Given the description of an element on the screen output the (x, y) to click on. 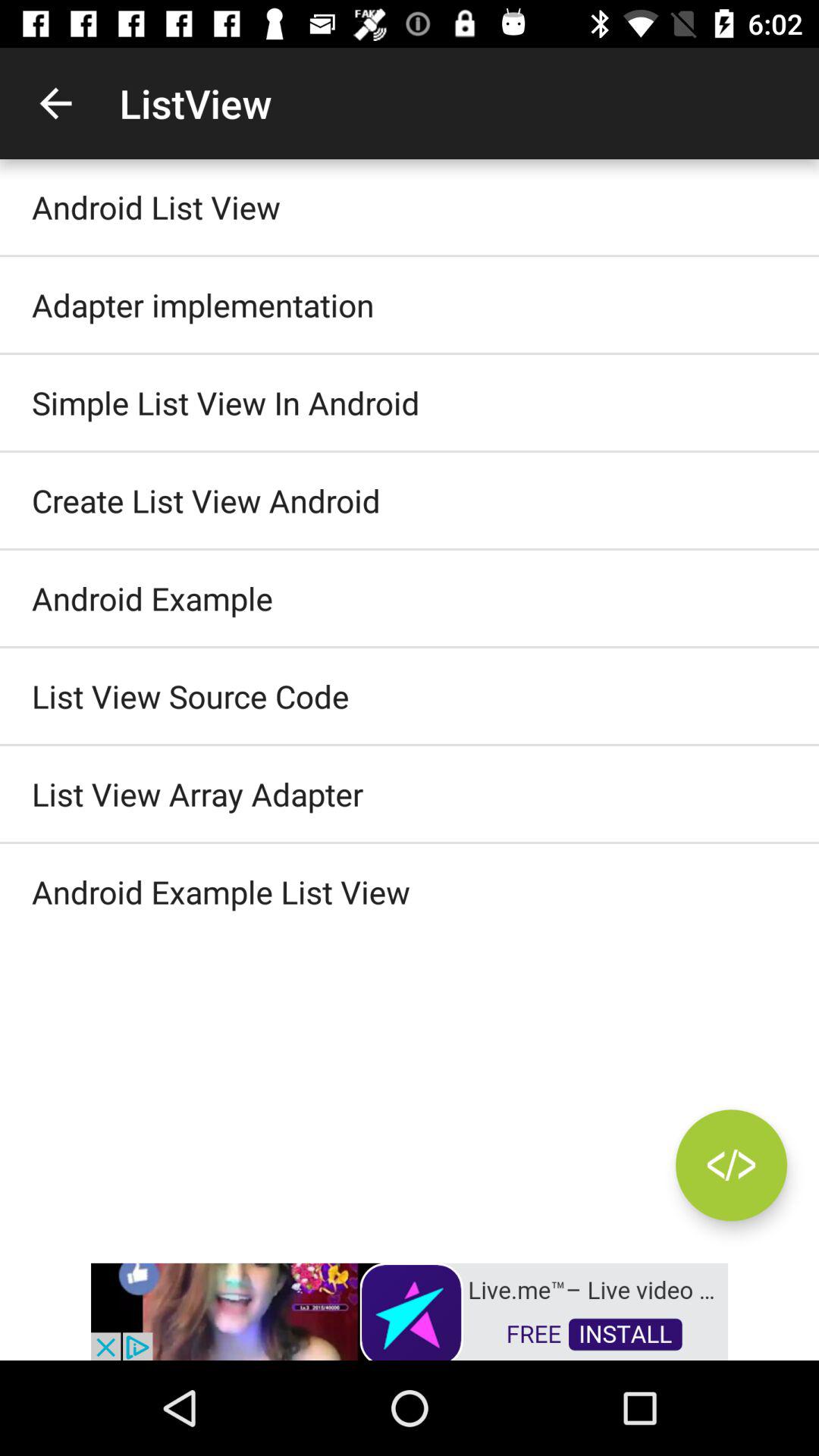
live video advertisement (409, 1310)
